Given the description of an element on the screen output the (x, y) to click on. 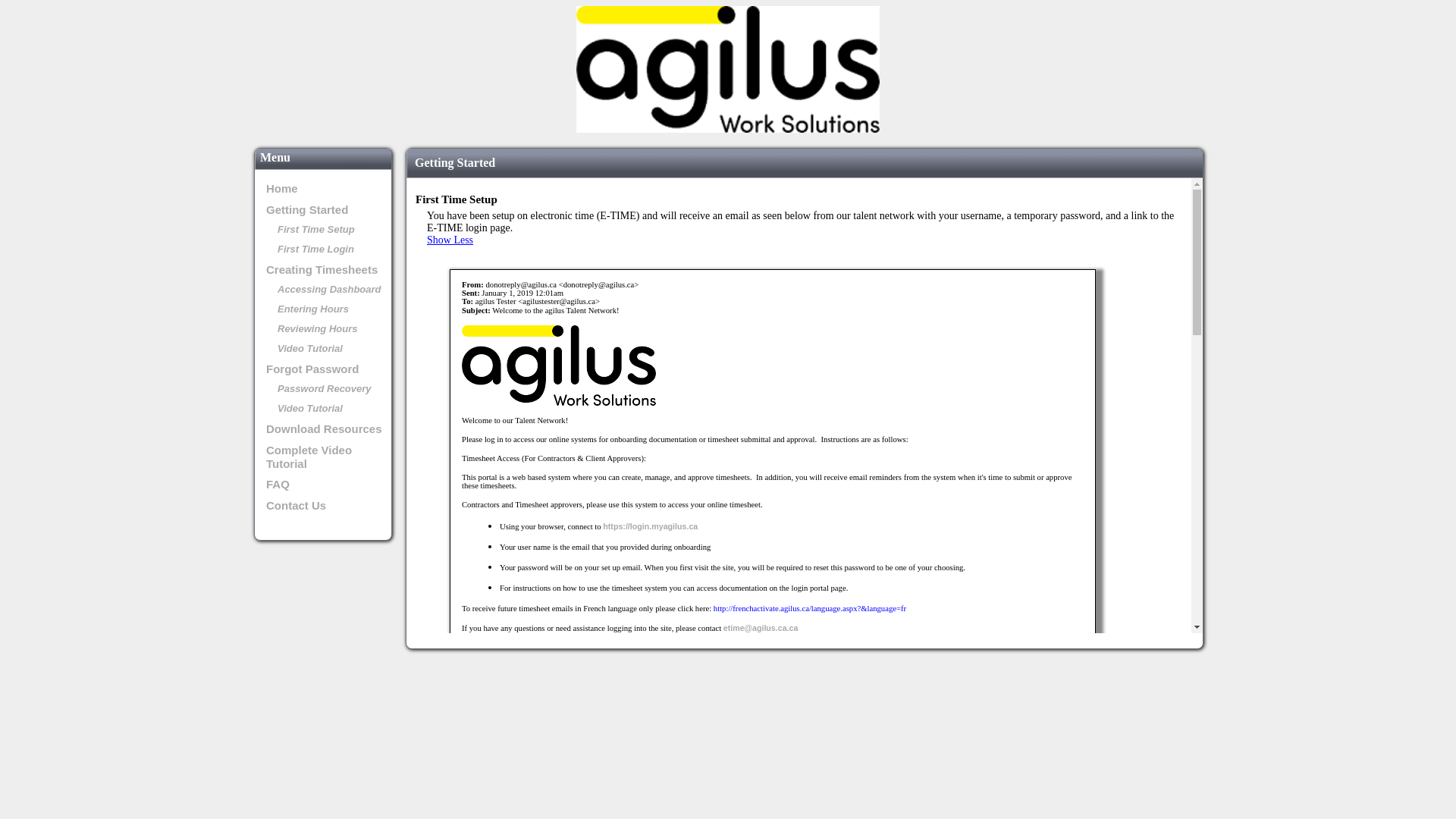
Show Less Element type: text (805, 801)
FAQ Element type: text (277, 483)
https://login.myagilus.ca Element type: text (649, 525)
Forgot Password Element type: text (312, 368)
Click here to return to main page. Element type: hover (727, 128)
etime@agilus.ca.ca Element type: text (760, 627)
Creating Timesheets Element type: text (321, 269)
Complete Video Tutorial Element type: text (308, 456)
First Time Login Element type: text (315, 248)
Entering Hours Element type: text (312, 308)
Password Recovery Element type: text (324, 388)
Getting Started Element type: text (307, 209)
First Time Setup Element type: text (315, 229)
Accessing Dashboard Element type: text (329, 288)
Contact Us Element type: text (296, 504)
Reviewing Hours Element type: text (317, 328)
Download Resources Element type: text (324, 428)
Show Less Element type: text (805, 240)
Video Tutorial Element type: text (309, 408)
Video Tutorial Element type: text (309, 348)
Home Element type: text (282, 188)
